Given the description of an element on the screen output the (x, y) to click on. 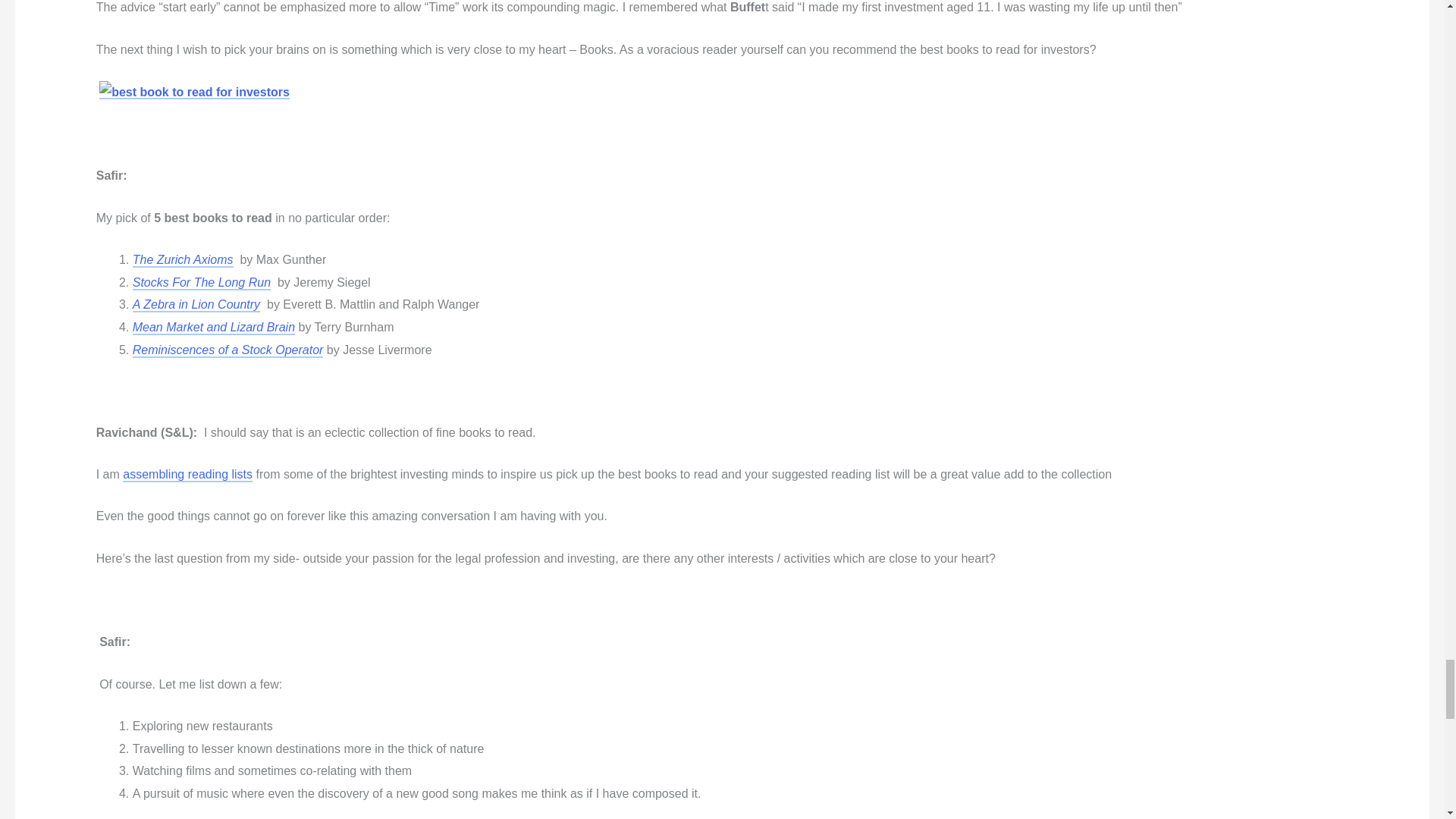
Reminiscences of a Stock Operator (227, 350)
A Zebra in Lion Country (196, 305)
Stocks For The Long Run (201, 283)
Mean Market and Lizard Brain (213, 327)
The Zurich Axioms (182, 260)
assembling reading lists (186, 474)
